Given the description of an element on the screen output the (x, y) to click on. 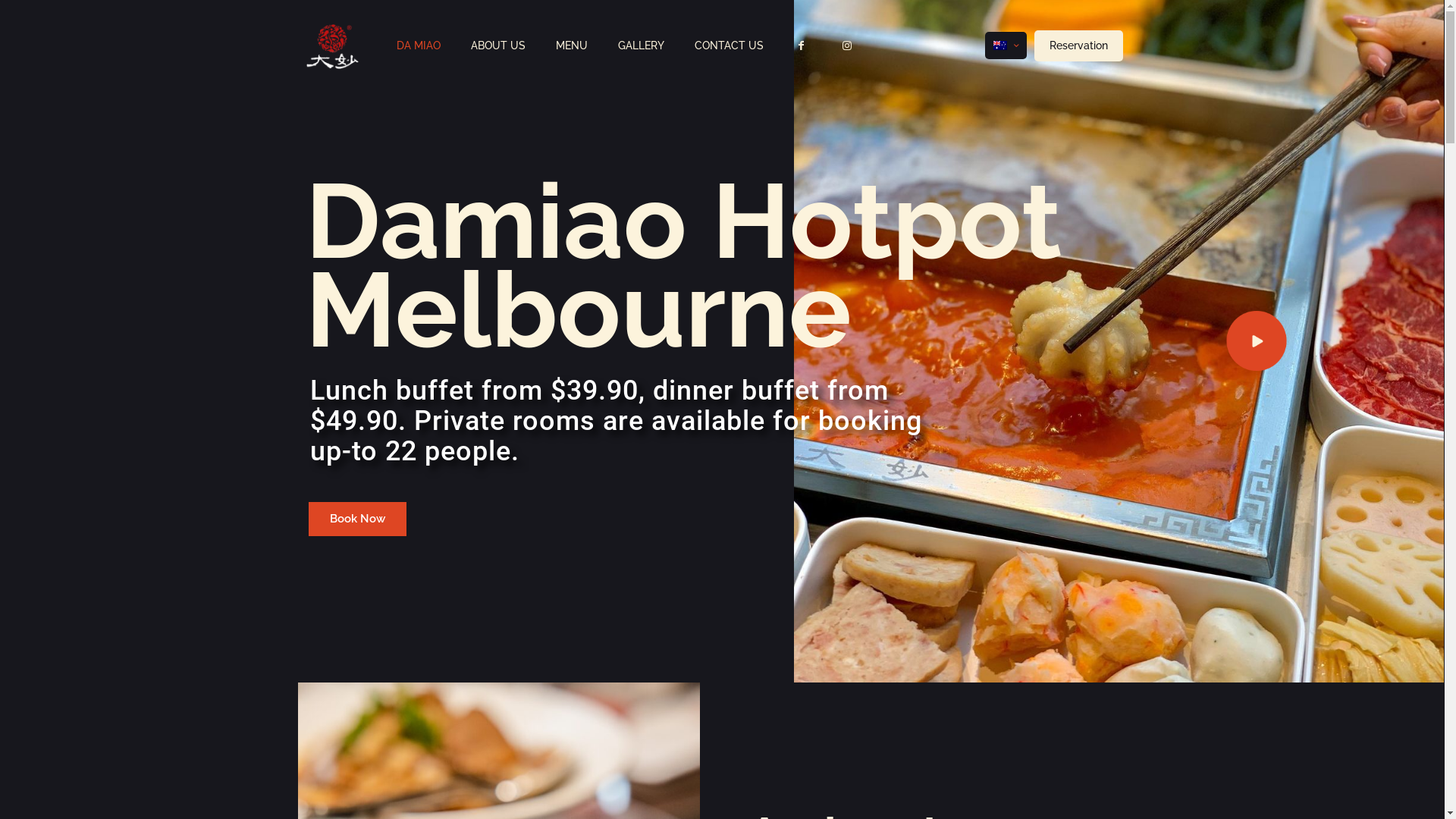
MENU Element type: text (571, 45)
DaMiao Hotpot Melbourne - Buffet and Sichuan Kitchen Element type: hover (332, 45)
Book Now Element type: text (356, 519)
CONTACT US Element type: text (728, 45)
DA MIAO Element type: text (418, 45)
Reservation Element type: text (1078, 45)
GALLERY Element type: text (640, 45)
ABOUT US Element type: text (497, 45)
